Given the description of an element on the screen output the (x, y) to click on. 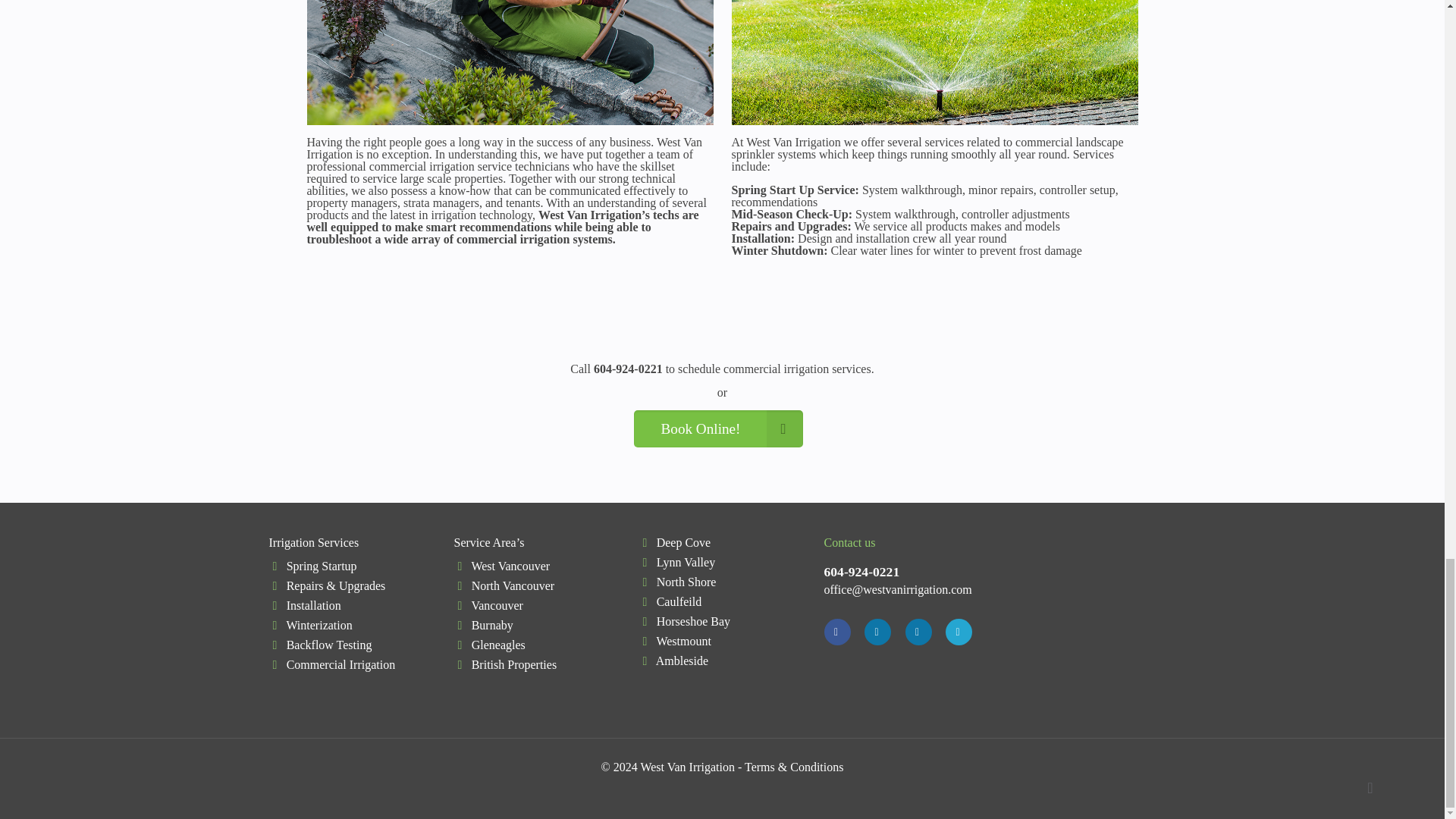
Caulfeild (678, 601)
Vancouver (496, 604)
Spring Startup (321, 565)
Winterization (318, 625)
West Vancouver (510, 565)
Installation (313, 604)
Gleneagles (498, 644)
Book Online! (717, 428)
Commercial Irrigation (341, 664)
Deep Cove (683, 542)
